Given the description of an element on the screen output the (x, y) to click on. 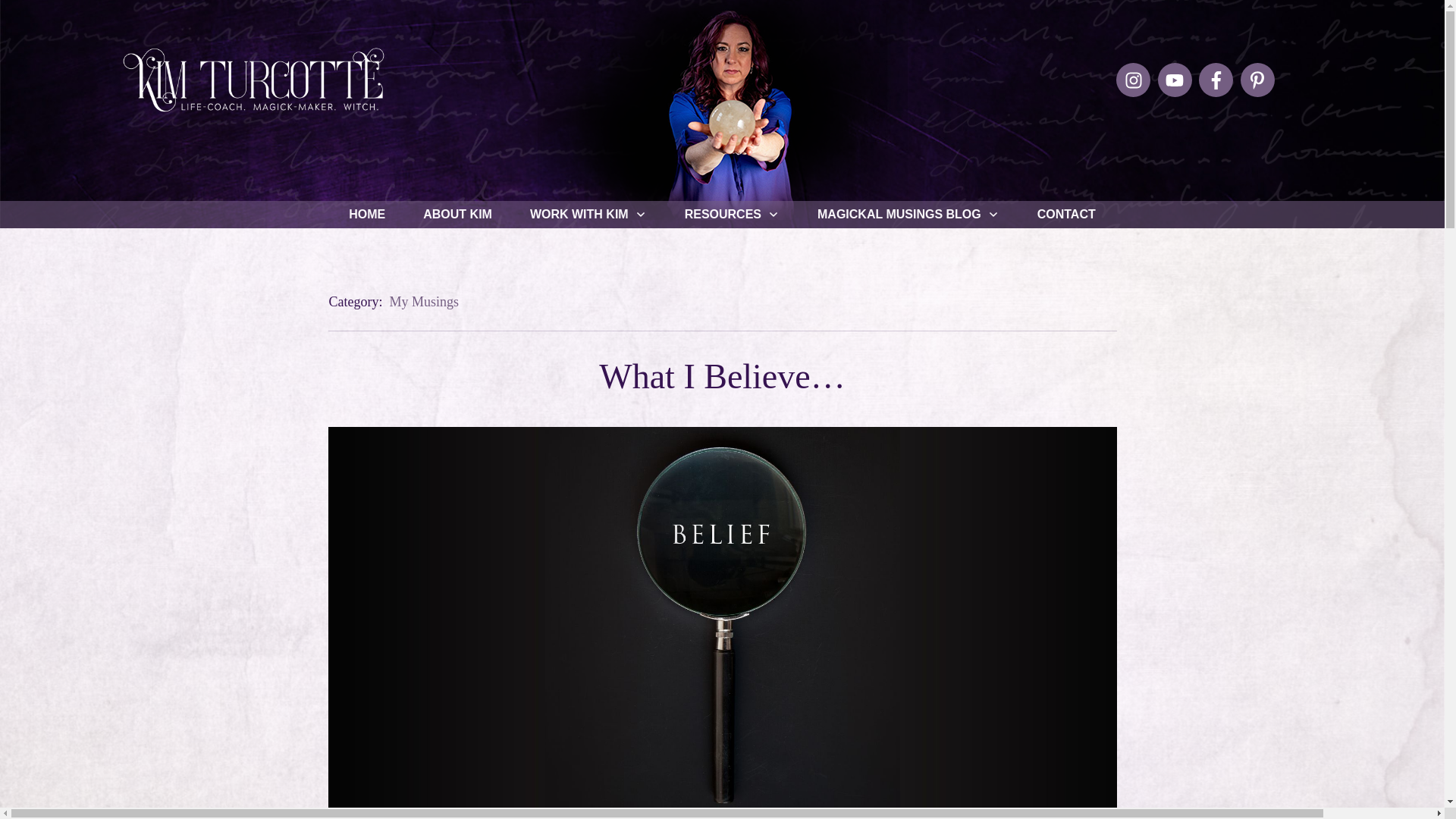
My Musings (423, 301)
RESOURCES (731, 214)
HOME (367, 214)
My Musings (423, 301)
MAGICKAL MUSINGS BLOG (907, 214)
ABOUT KIM (457, 214)
CONTACT (1066, 214)
WORK WITH KIM (587, 214)
